Given the description of an element on the screen output the (x, y) to click on. 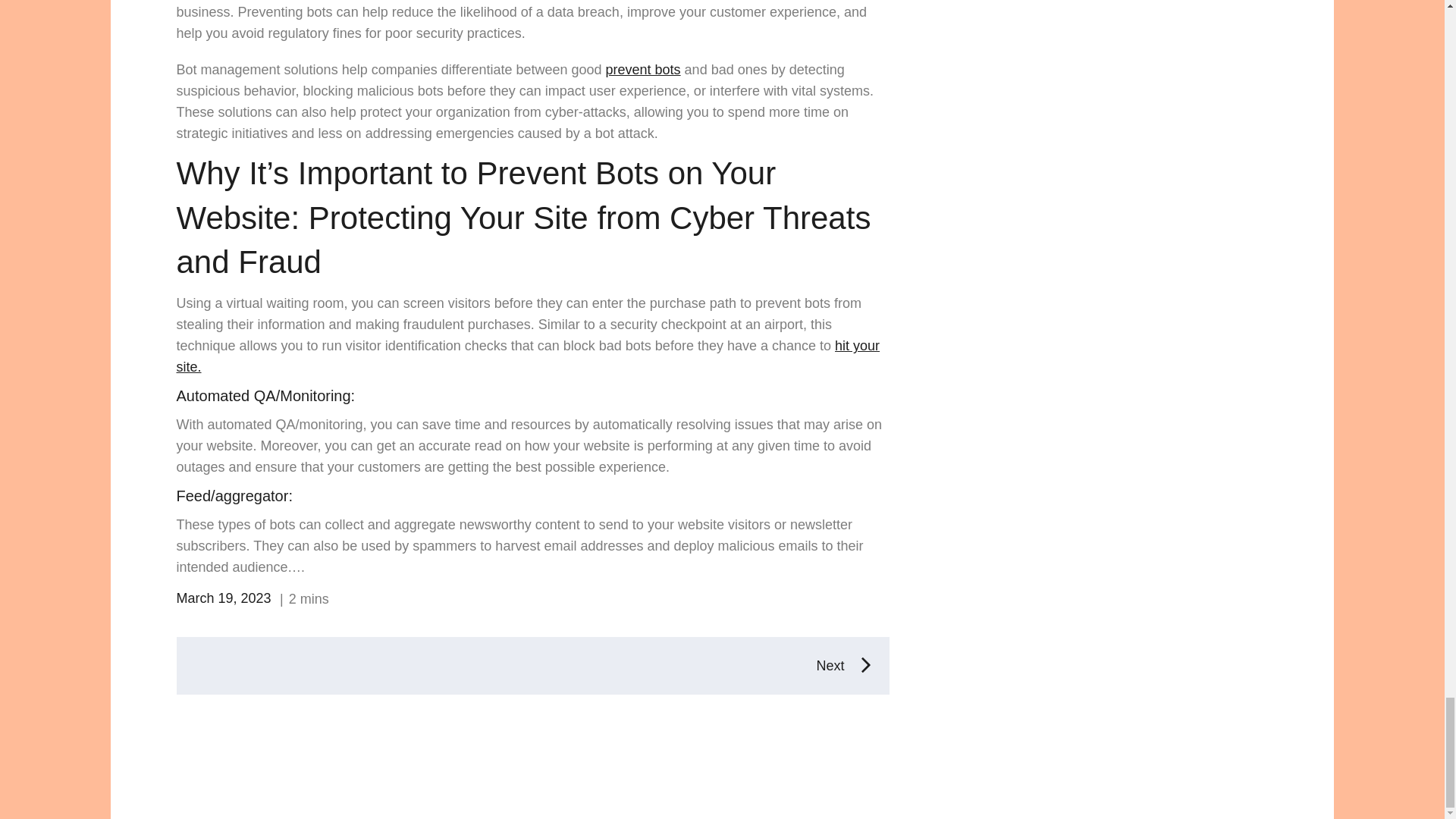
prevent bots (643, 69)
hit your site. (527, 356)
March 19, 2023 (223, 598)
